Given the description of an element on the screen output the (x, y) to click on. 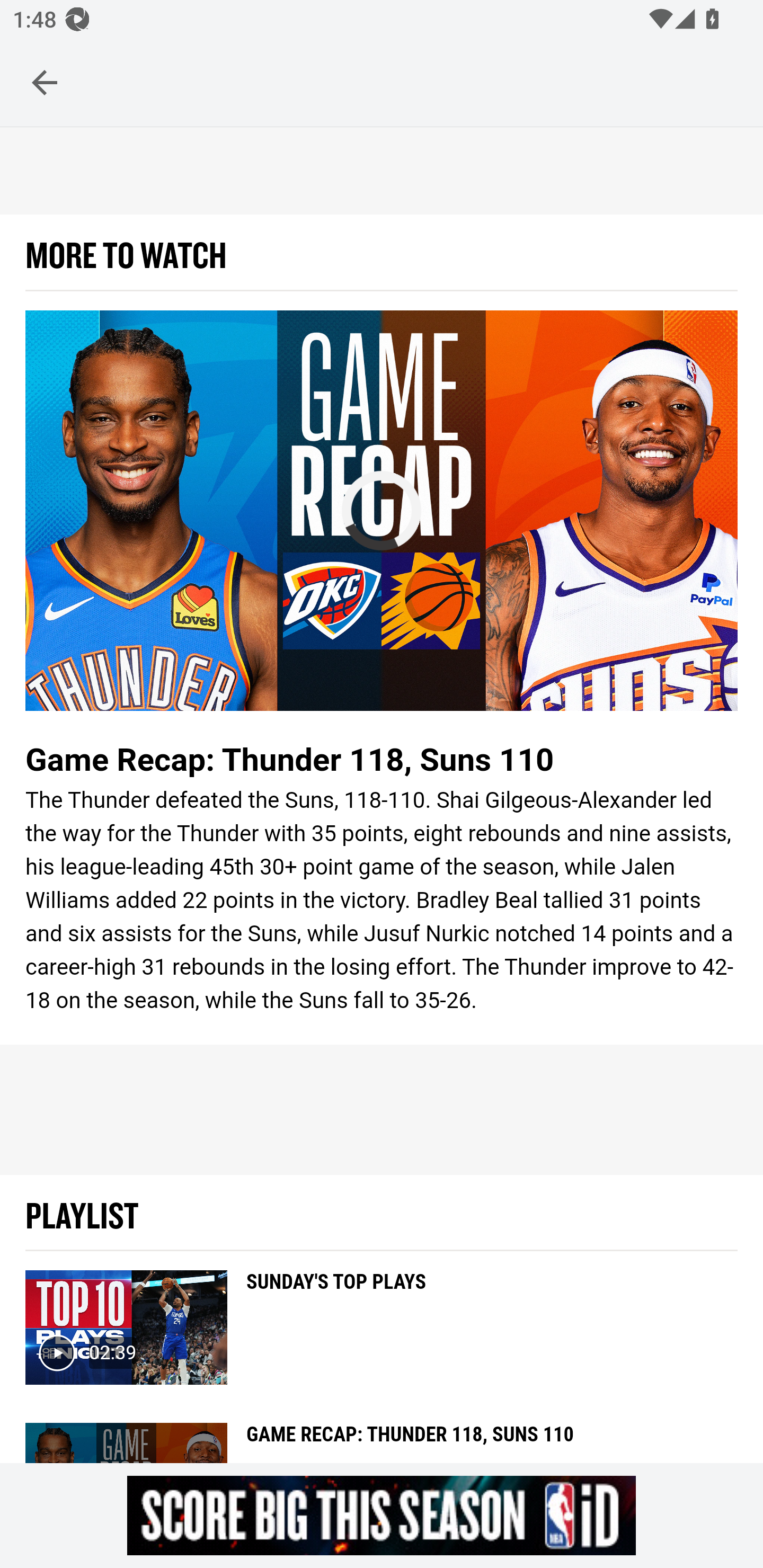
Navigate up (44, 82)
Unable to play media. (381, 510)
SUNDAY'S TOP PLAYS (336, 1321)
GAME RECAP: THUNDER 118, SUNS 110 (409, 1442)
